Given the description of an element on the screen output the (x, y) to click on. 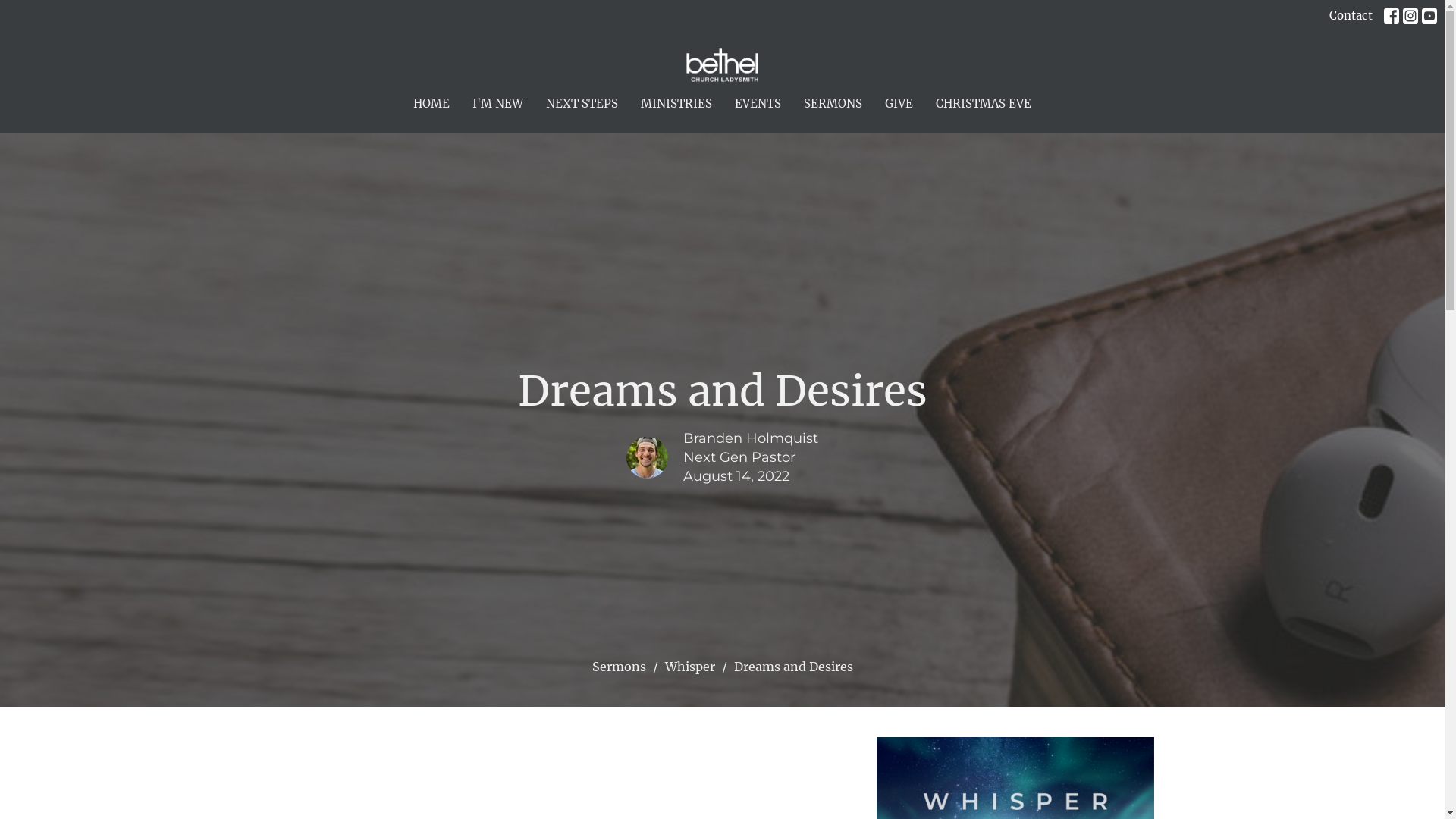
I'M NEW Element type: text (497, 103)
MINISTRIES Element type: text (676, 103)
HOME Element type: text (431, 103)
GIVE Element type: text (898, 103)
CHRISTMAS EVE Element type: text (983, 103)
SERMONS Element type: text (832, 103)
NEXT STEPS Element type: text (582, 103)
Contact Element type: text (1350, 15)
EVENTS Element type: text (757, 103)
Whisper Element type: text (689, 666)
Sermons Element type: text (618, 666)
